Given the description of an element on the screen output the (x, y) to click on. 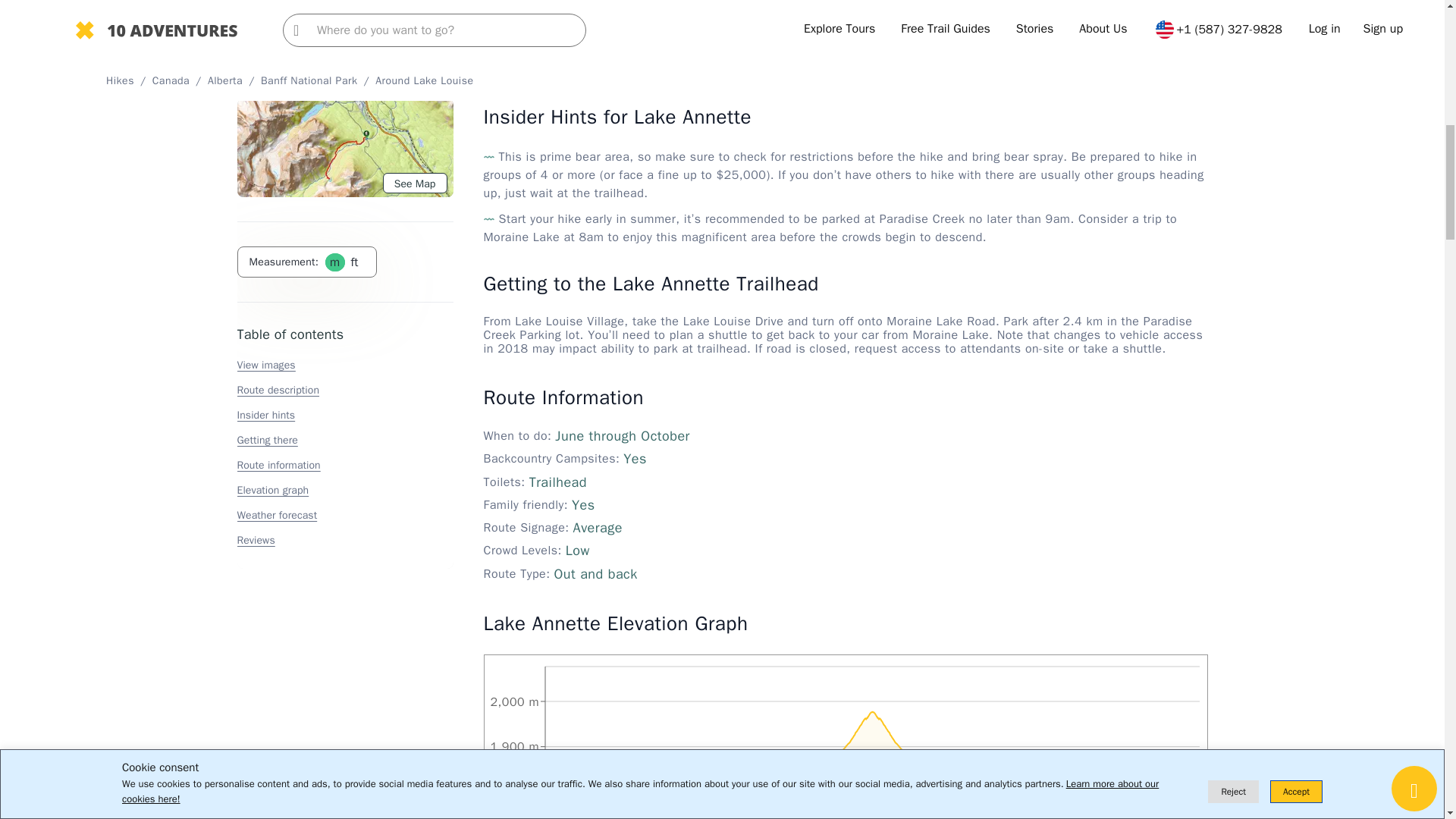
Getting there (266, 35)
Reviews (255, 135)
Elevation graph (271, 85)
Route information (277, 60)
Weather forecast (276, 110)
Insider hints (265, 10)
